Given the description of an element on the screen output the (x, y) to click on. 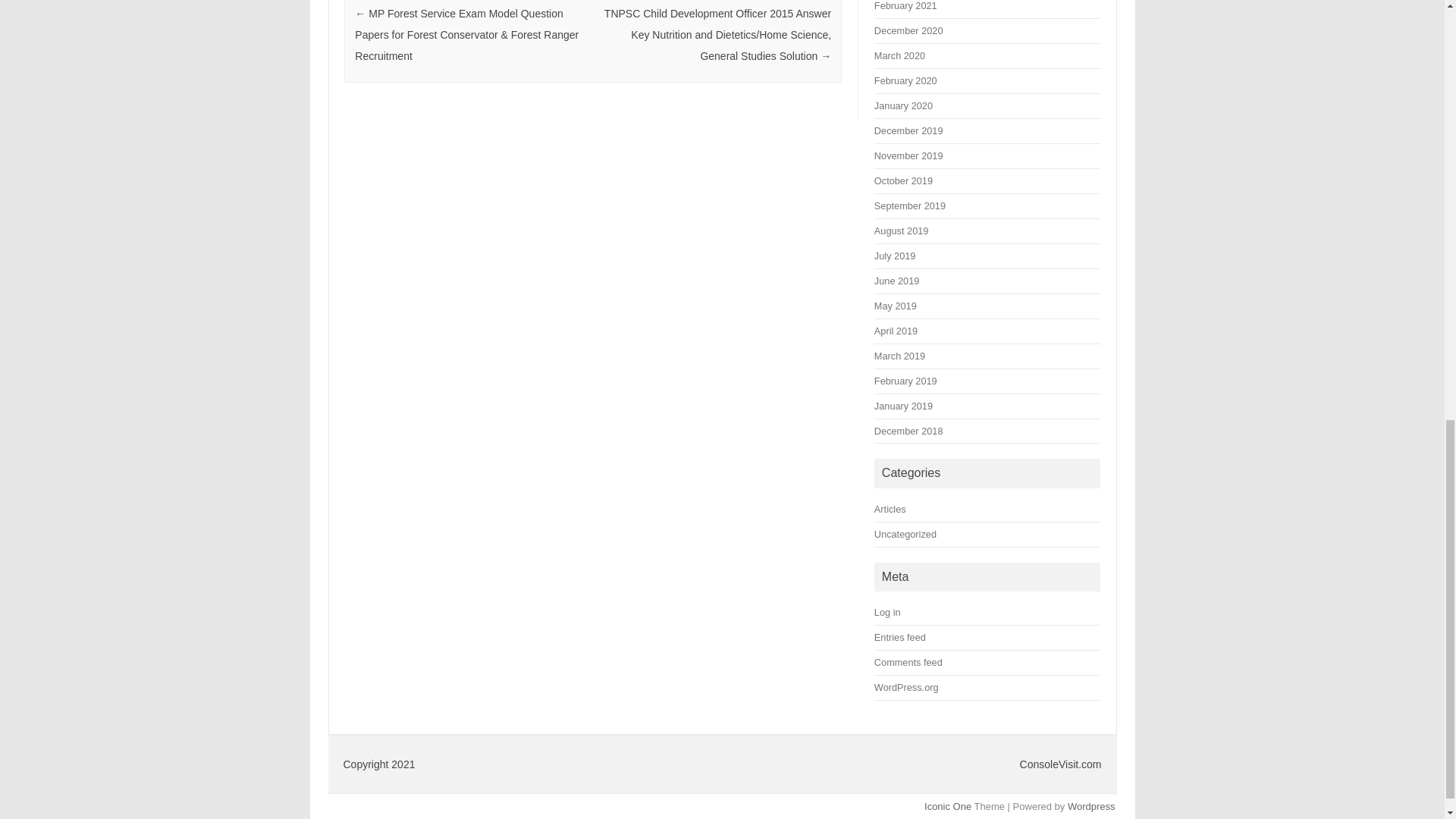
February 2019 (906, 380)
May 2019 (896, 306)
July 2019 (895, 255)
June 2019 (896, 280)
April 2019 (896, 330)
December 2019 (909, 130)
March 2020 (899, 55)
February 2021 (906, 5)
February 2020 (906, 80)
November 2019 (909, 155)
October 2019 (904, 180)
January 2020 (904, 105)
September 2019 (909, 205)
December 2020 (909, 30)
January 2019 (904, 405)
